Given the description of an element on the screen output the (x, y) to click on. 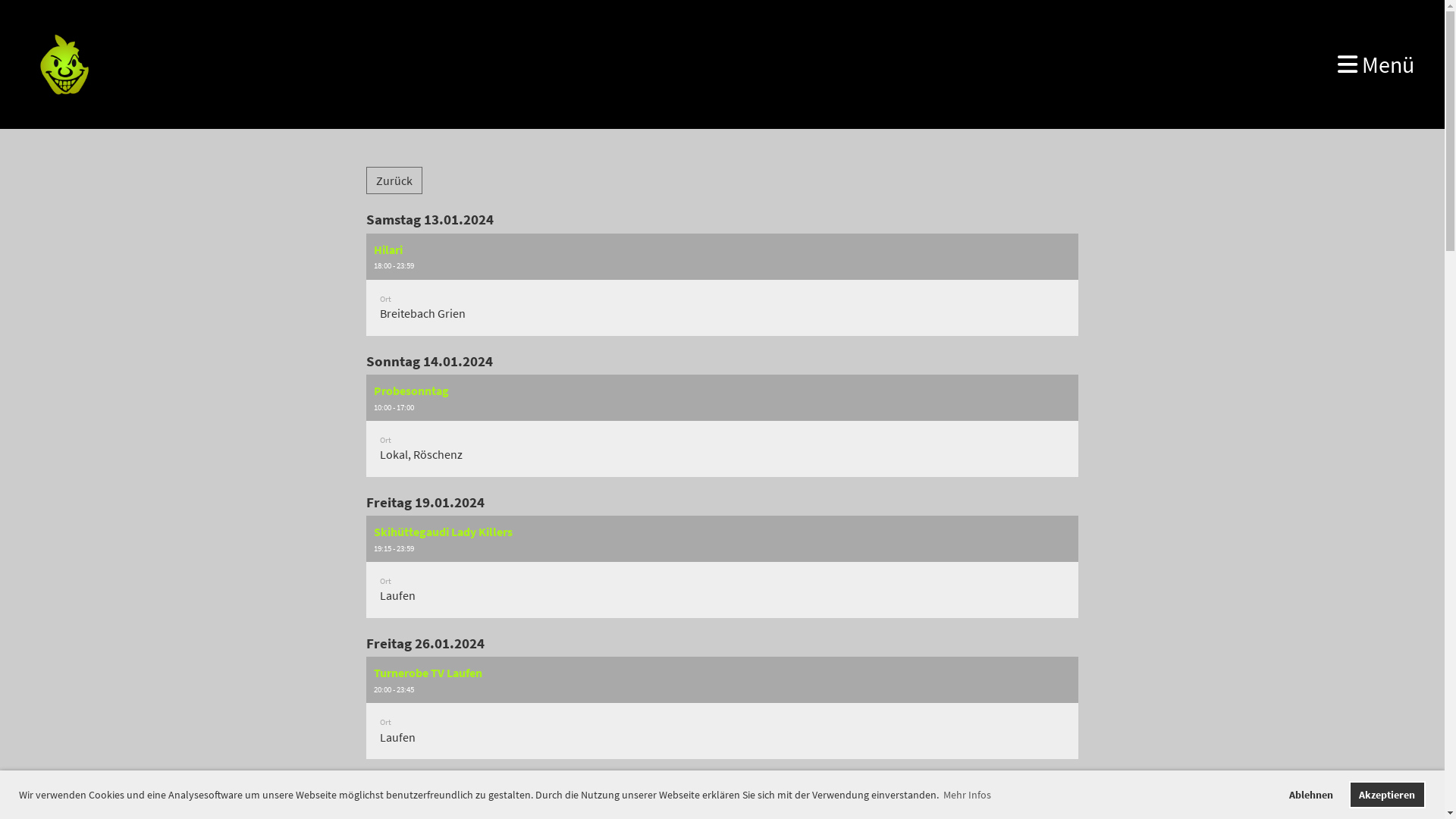
Akzeptieren Element type: text (1387, 794)
Ablehnen Element type: text (1311, 794)
Mehr Infos Element type: text (967, 794)
Turnerobe TV Laufen
20:00 - 23:45
Ort
Laufen Element type: text (721, 707)
Hilari
18:00 - 23:59
Ort
Breitebach Grien Element type: text (721, 284)
